Given the description of an element on the screen output the (x, y) to click on. 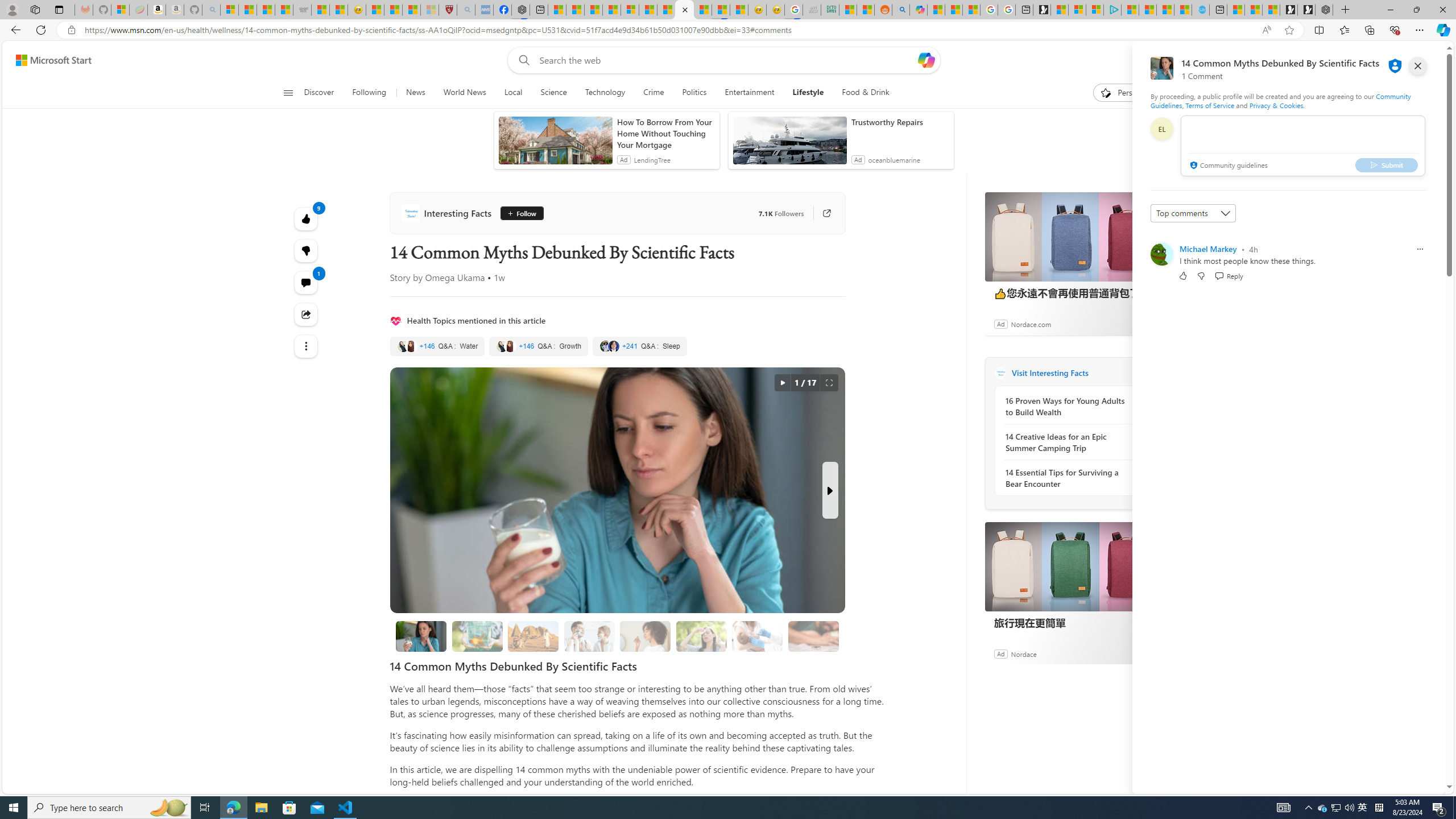
Profile Picture (1161, 254)
Sort comments by (1193, 212)
12 Popular Science Lies that Must be Corrected - Sleeping (430, 9)
Follow (521, 213)
autorotate button (782, 382)
5. Childhood Was High-Risk (756, 636)
